Given the description of an element on the screen output the (x, y) to click on. 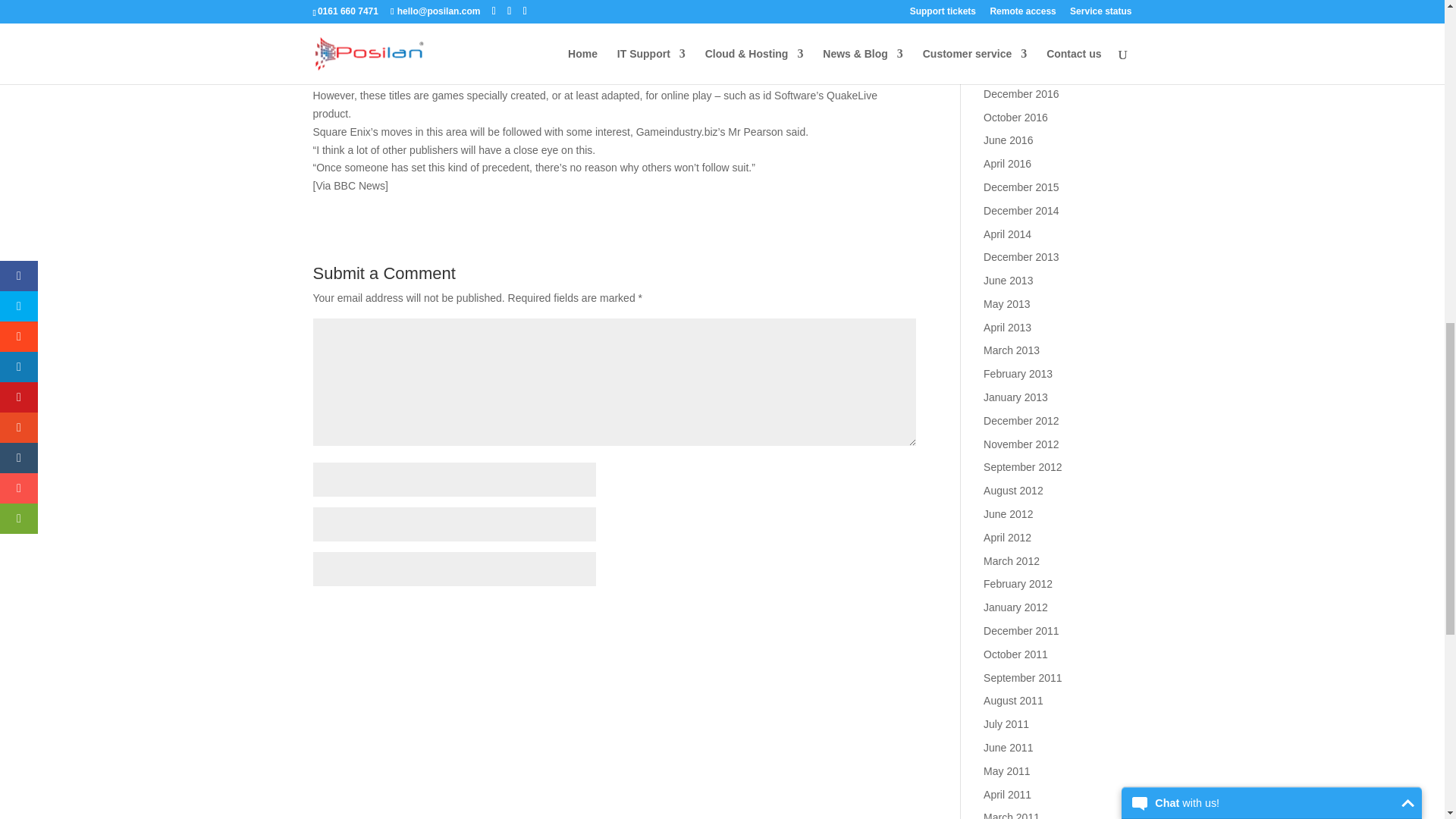
Submit Comment (840, 615)
